Given the description of an element on the screen output the (x, y) to click on. 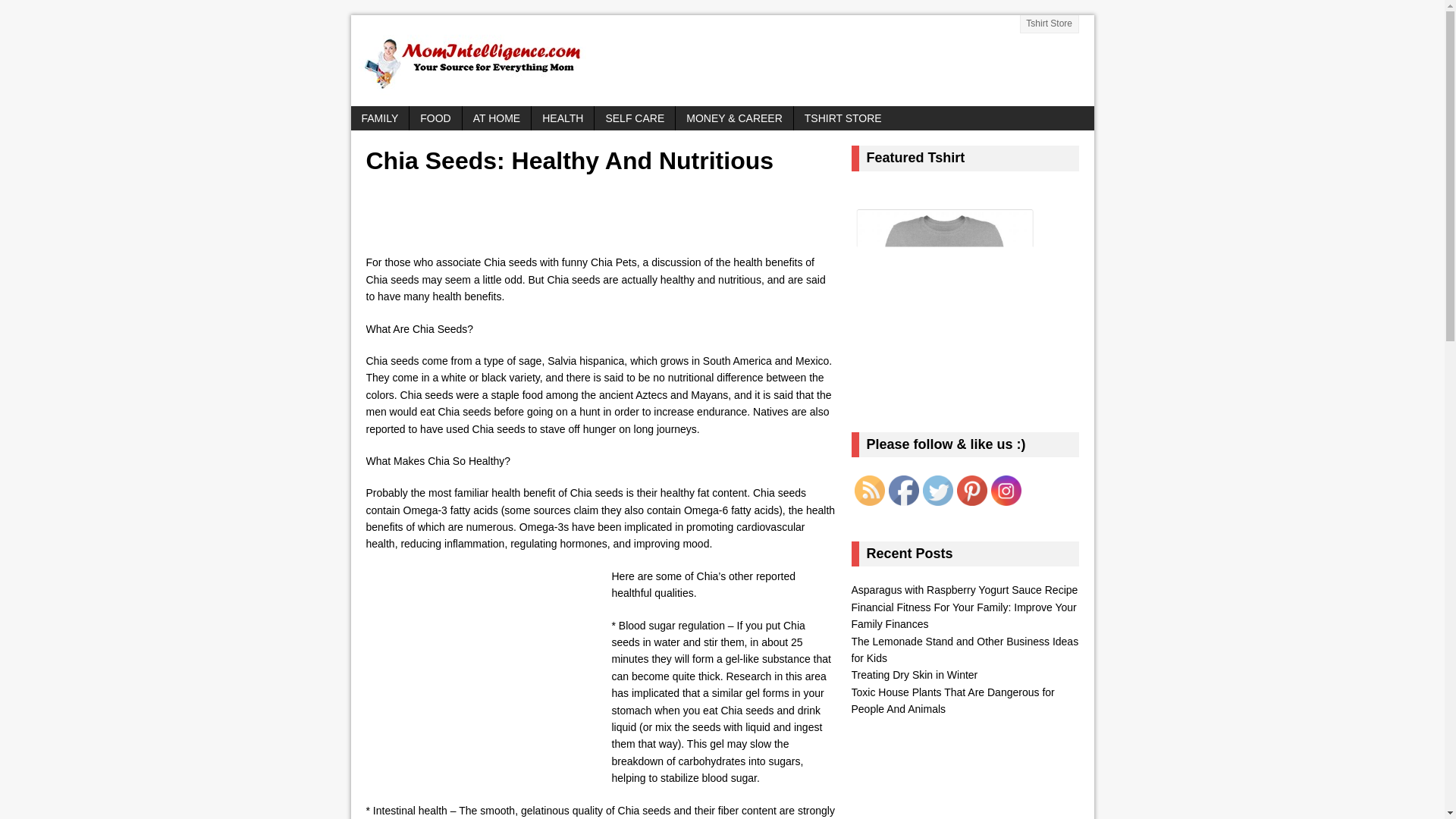
Tips, Recipes and Sanity for Moms (721, 60)
Advertisement (488, 671)
Advertisement (551, 217)
AT HOME (497, 118)
FAMILY (379, 118)
HEALTH (562, 118)
Facebook (903, 490)
Twitter (936, 490)
Pinterest (971, 490)
RSS (868, 490)
SELF CARE (634, 118)
Tshirt Store (1049, 23)
FOOD (435, 118)
TSHIRT STORE (842, 118)
